Given the description of an element on the screen output the (x, y) to click on. 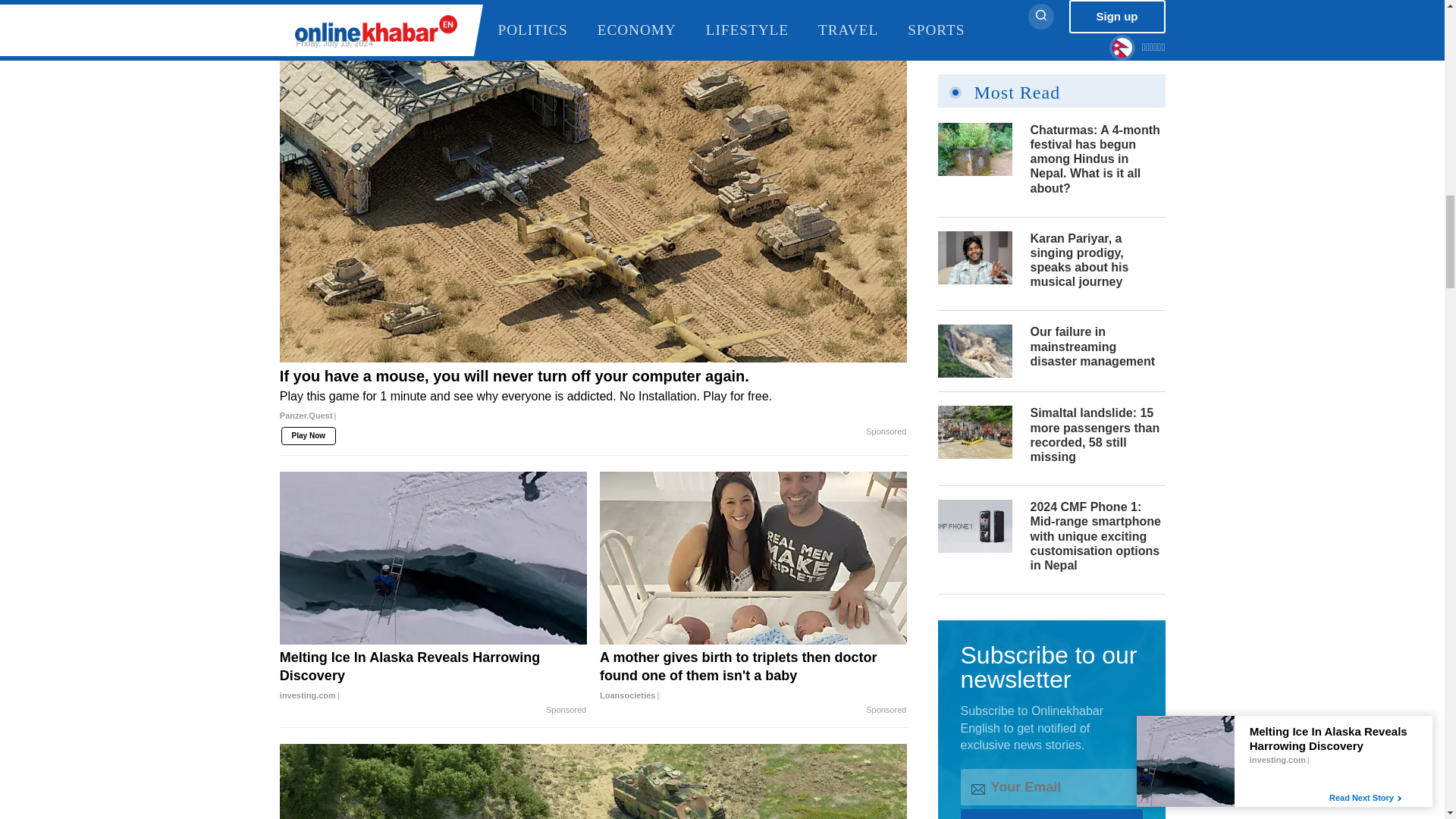
Play Now (308, 6)
Sponsored (566, 1)
